Given the description of an element on the screen output the (x, y) to click on. 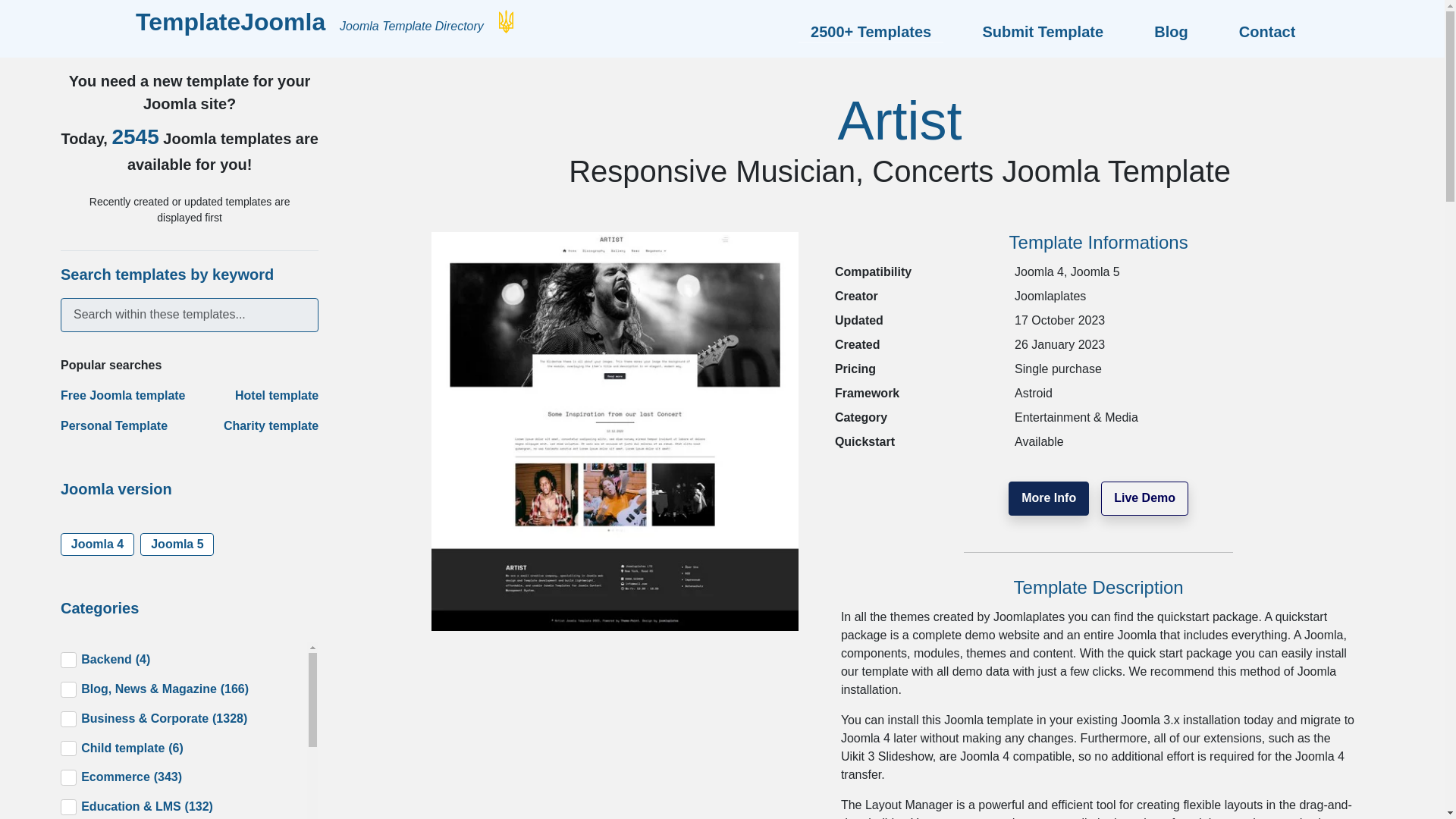
Hotel template (276, 395)
Free Joomla template (123, 395)
Contact (1261, 31)
Submit Template (1042, 31)
Submit Your Template or Template Update to the Directory  (1042, 31)
Contact us! (1261, 31)
Latest News, and Info about Joomla Templates (1170, 31)
Personal Template (114, 425)
TemplateJoomla (229, 22)
Charity template (271, 425)
Blog (1170, 31)
Joomla 4 (97, 544)
TemplateJoomla (233, 22)
Joomla 5 (176, 544)
